Given the description of an element on the screen output the (x, y) to click on. 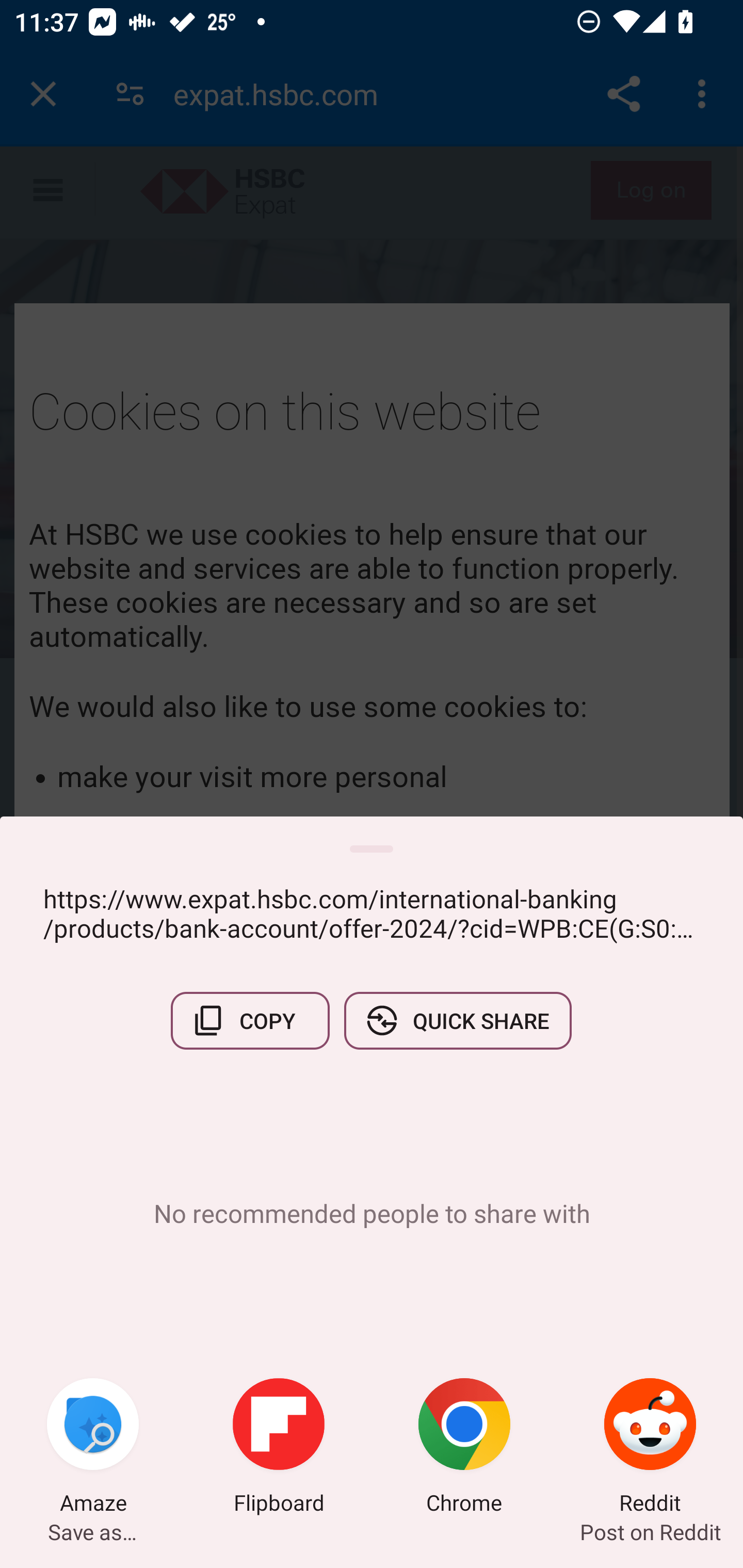
COPY (249, 1020)
QUICK SHARE (457, 1020)
Amaze Save as… (92, 1448)
Flipboard (278, 1448)
Chrome (464, 1448)
Reddit Post on Reddit (650, 1448)
